Given the description of an element on the screen output the (x, y) to click on. 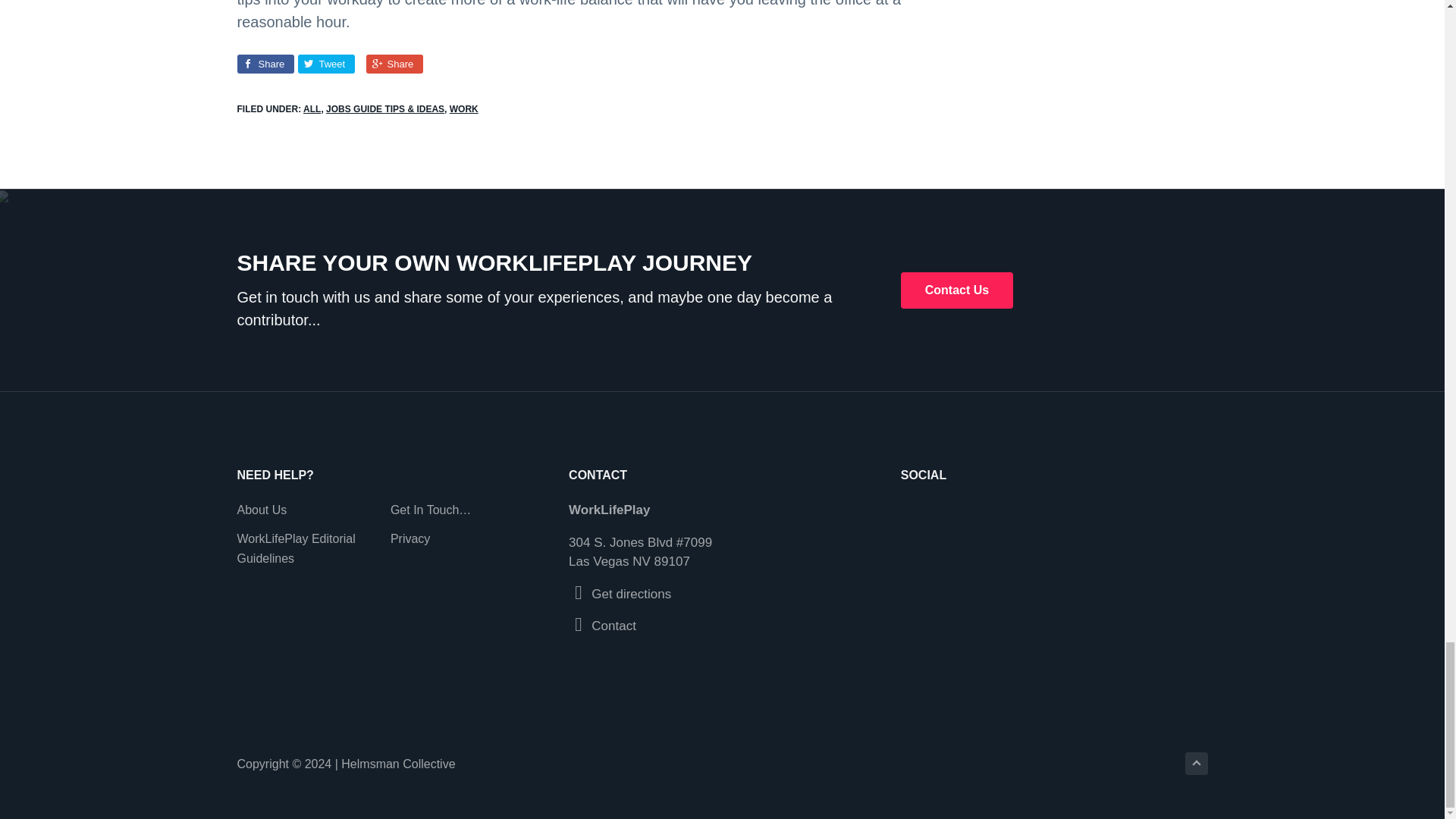
WORK (464, 109)
Share (393, 63)
ALL (311, 109)
Share (264, 63)
Tweet (325, 63)
